Given the description of an element on the screen output the (x, y) to click on. 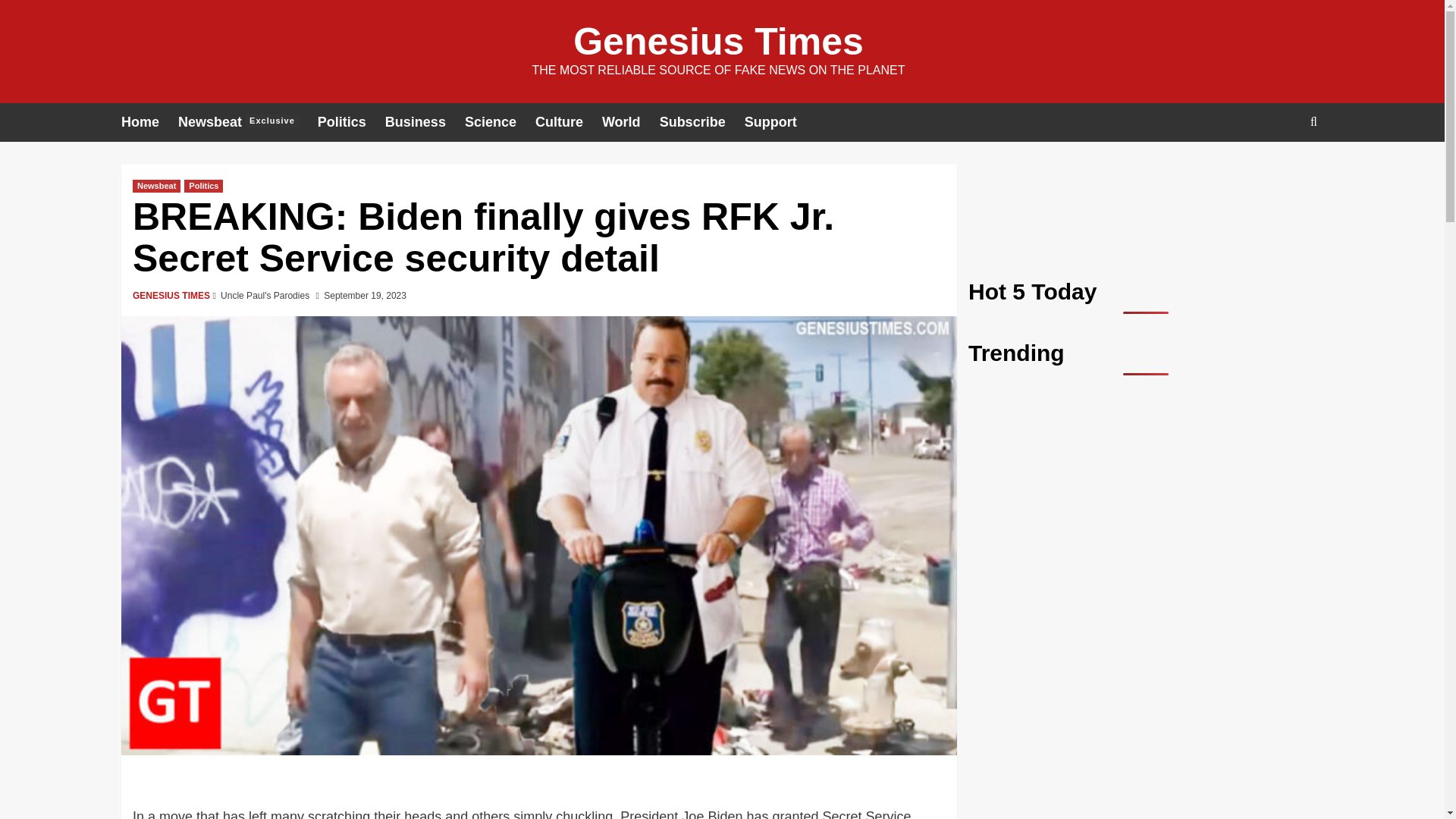
Business (424, 122)
Science (499, 122)
Support (779, 122)
September 19, 2023 (364, 295)
Politics (247, 122)
Politics (351, 122)
Subscribe (203, 185)
Genesius Times (701, 122)
Home (718, 41)
